Given the description of an element on the screen output the (x, y) to click on. 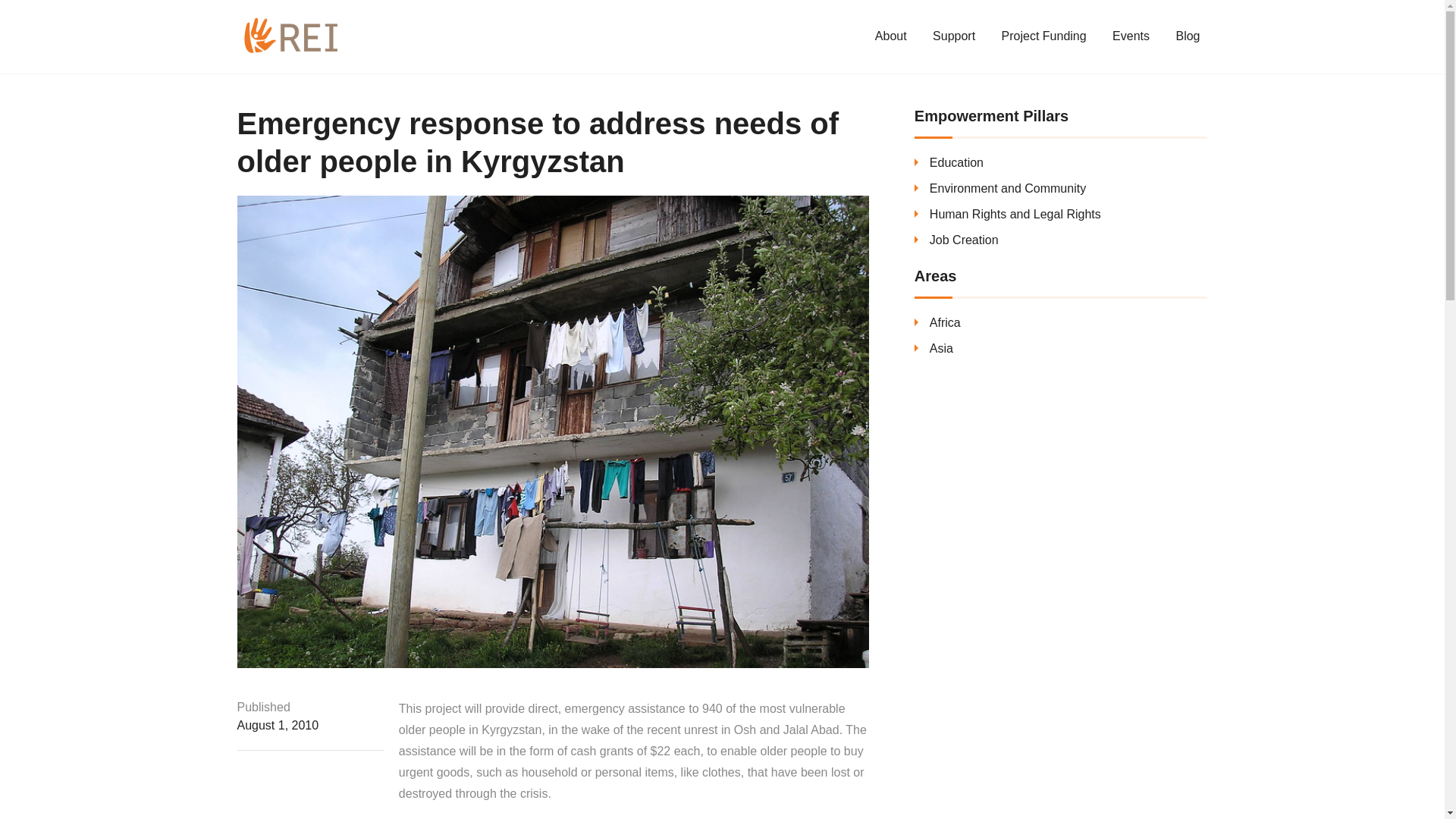
Job Creation (964, 239)
Events (1130, 35)
Human Rights and Legal Rights (1015, 214)
Project Funding (1043, 35)
Asia (941, 348)
Education (957, 162)
Africa (945, 322)
About (890, 35)
Blog (1188, 35)
Support (953, 35)
Environment and Community (1008, 187)
